Given the description of an element on the screen output the (x, y) to click on. 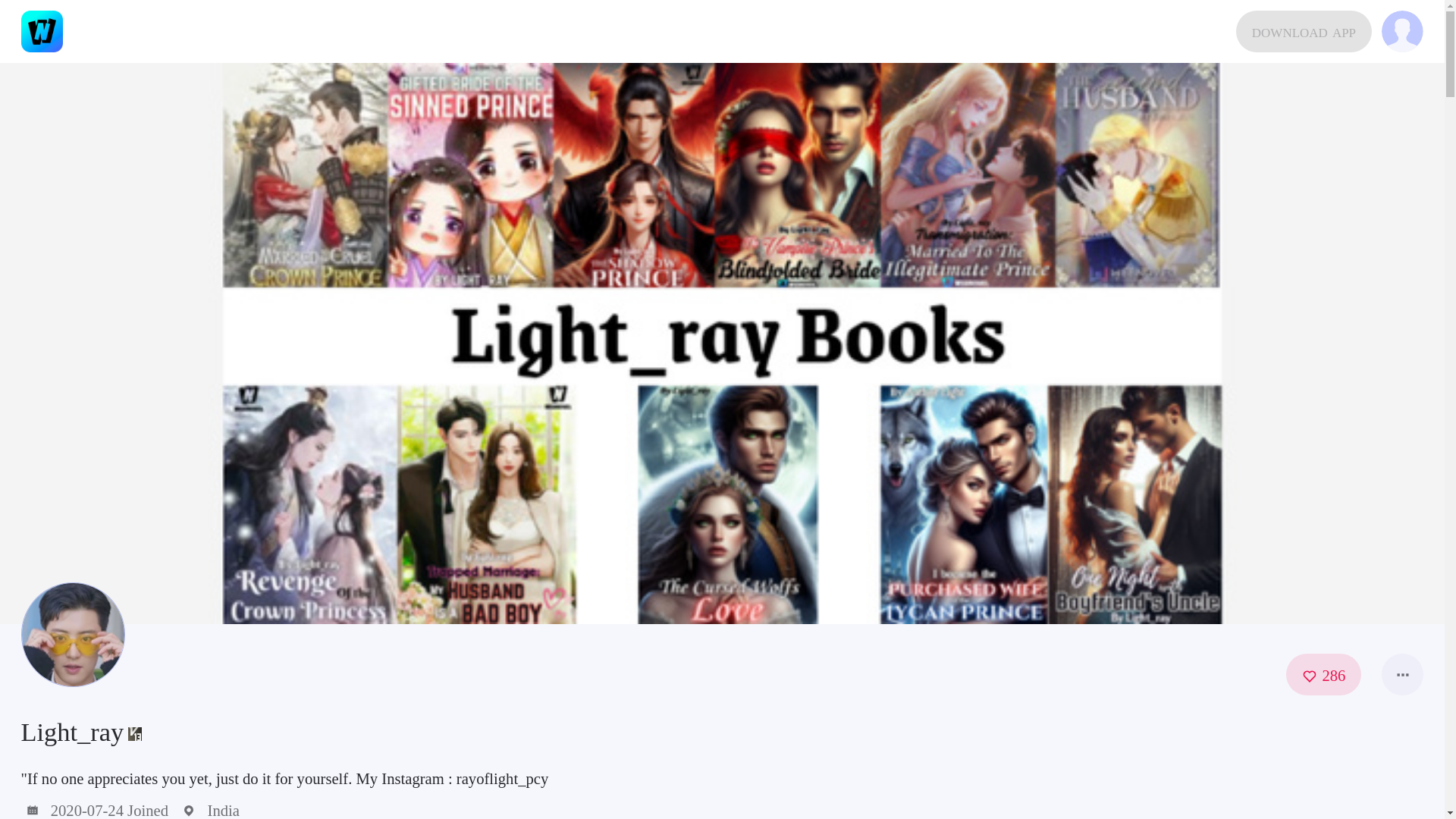
286 (1323, 674)
download app (1303, 31)
Webnovel (41, 31)
